Given the description of an element on the screen output the (x, y) to click on. 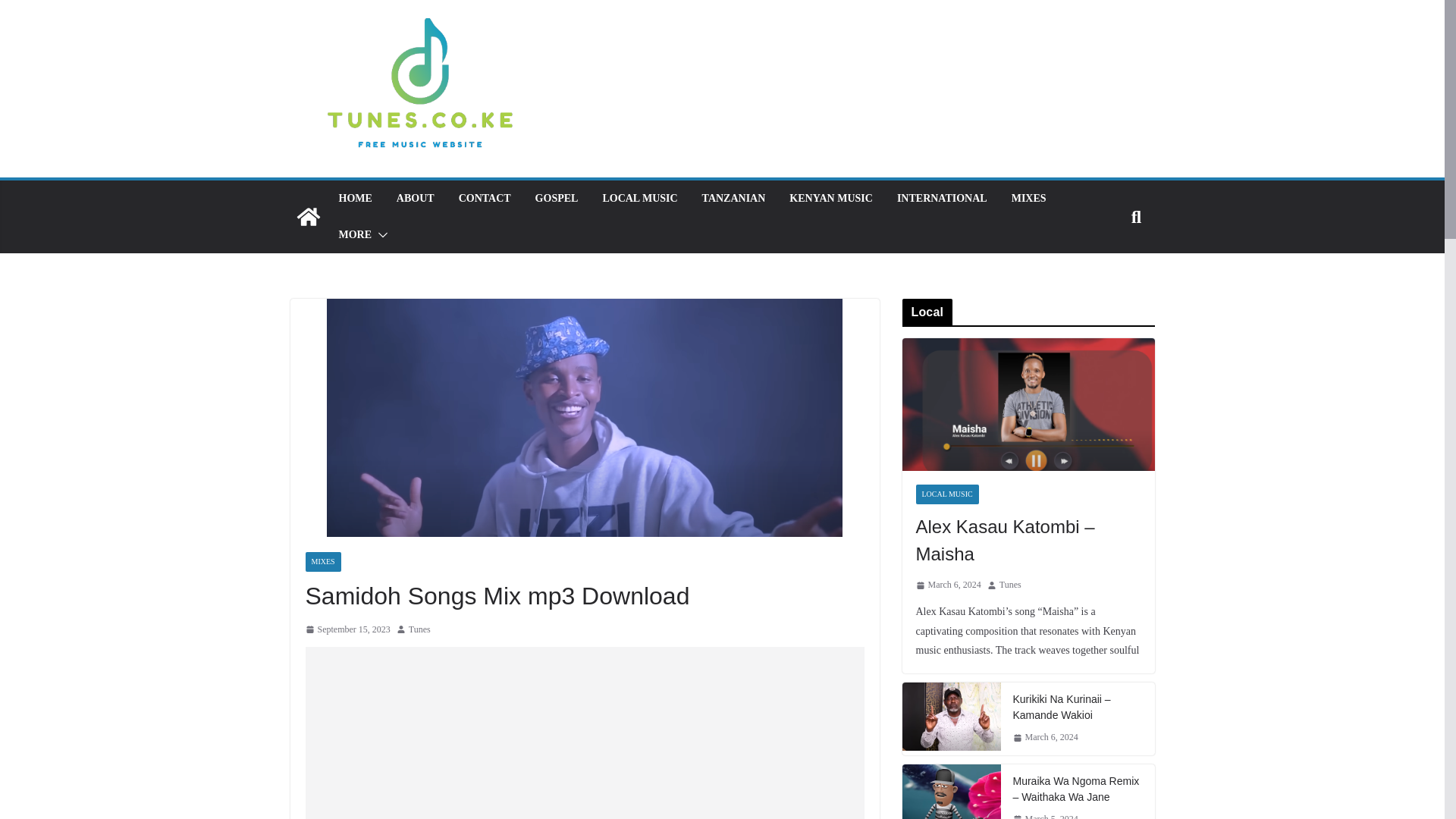
ABOUT (414, 198)
12:55 pm (347, 629)
LOCAL MUSIC (639, 198)
Tunes (419, 629)
Advertisement (583, 733)
Tunes (419, 629)
KENYAN MUSIC (830, 198)
MIXES (1028, 198)
Tunes.co.ke (307, 217)
CONTACT (484, 198)
MORE (354, 234)
HOME (354, 198)
MIXES (322, 561)
INTERNATIONAL (941, 198)
GOSPEL (556, 198)
